Given the description of an element on the screen output the (x, y) to click on. 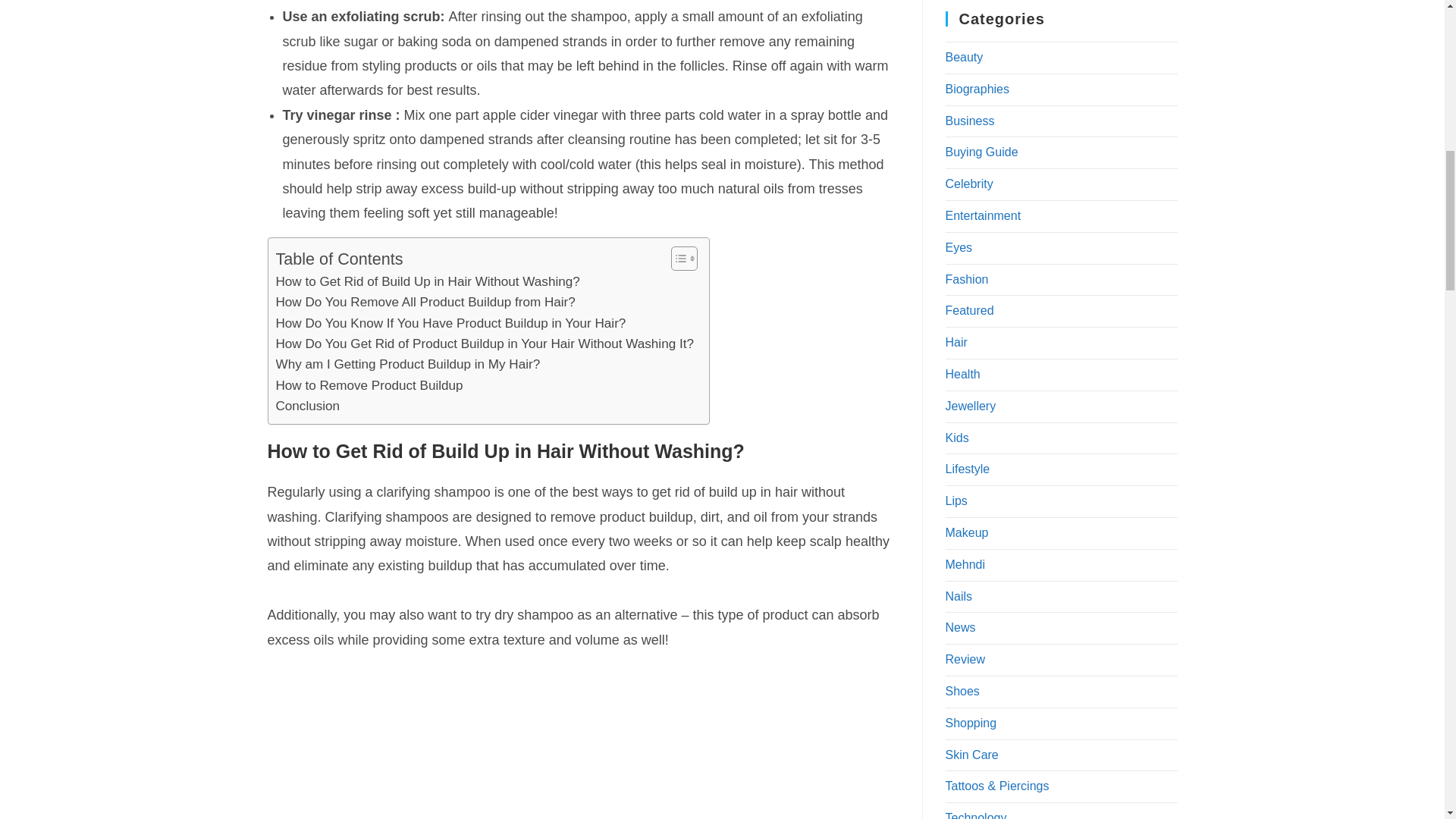
How to Remove Product Buildup (369, 385)
How to Get Rid of Build Up in Hair Without Washing?  (427, 281)
How Do You Know If You Have Product Buildup in Your Hair?  (451, 322)
Why am I Getting Product Buildup in My Hair? (408, 363)
How Do You Remove All Product Buildup from Hair? (425, 301)
How Do You Remove All Product Buildup from Hair?  (425, 301)
How Do You Know If You Have Product Buildup in Your Hair? (451, 322)
How to Remove Product Buildup (369, 385)
Conclusion (308, 405)
